Given the description of an element on the screen output the (x, y) to click on. 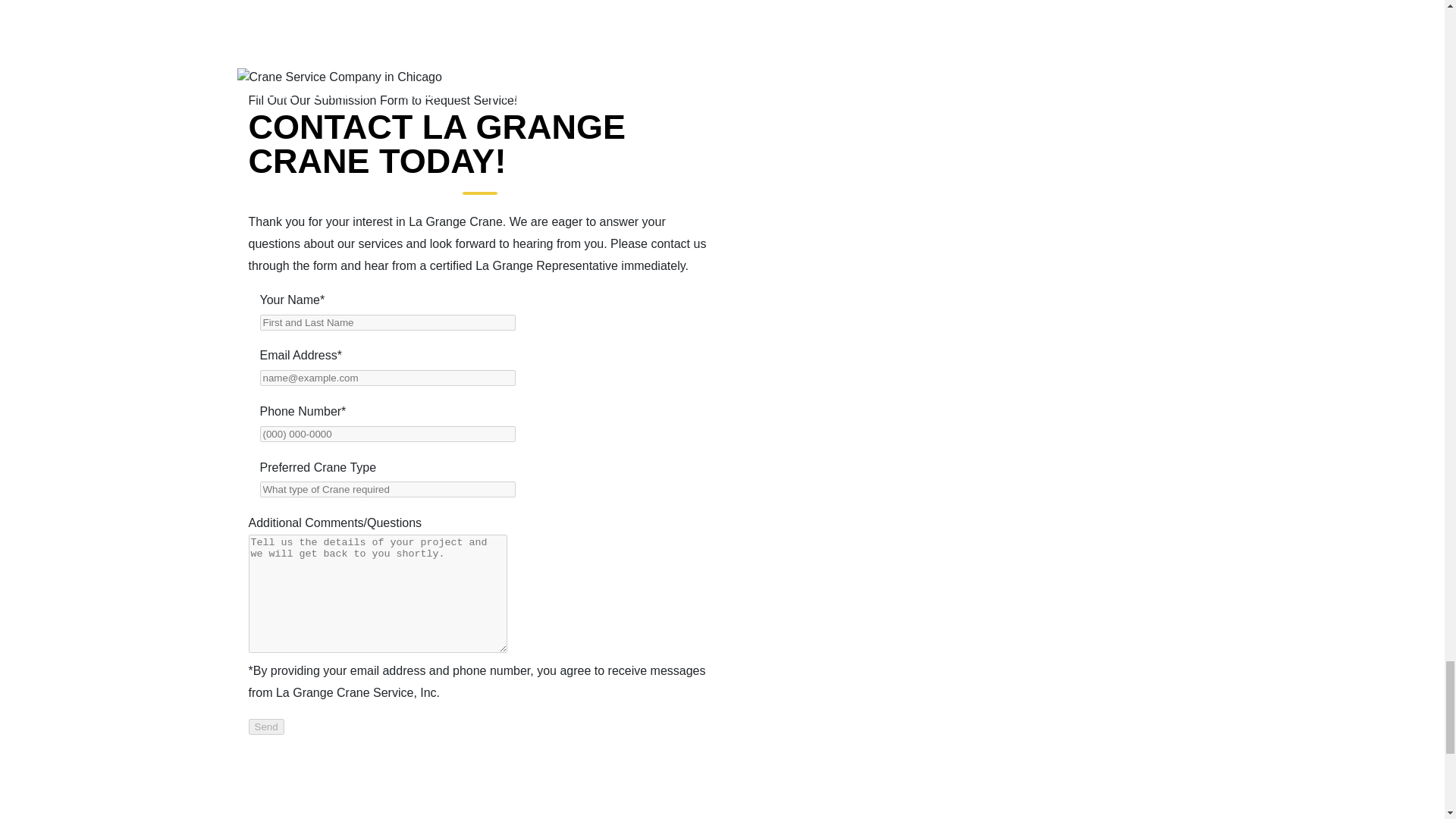
Send (265, 726)
